Given the description of an element on the screen output the (x, y) to click on. 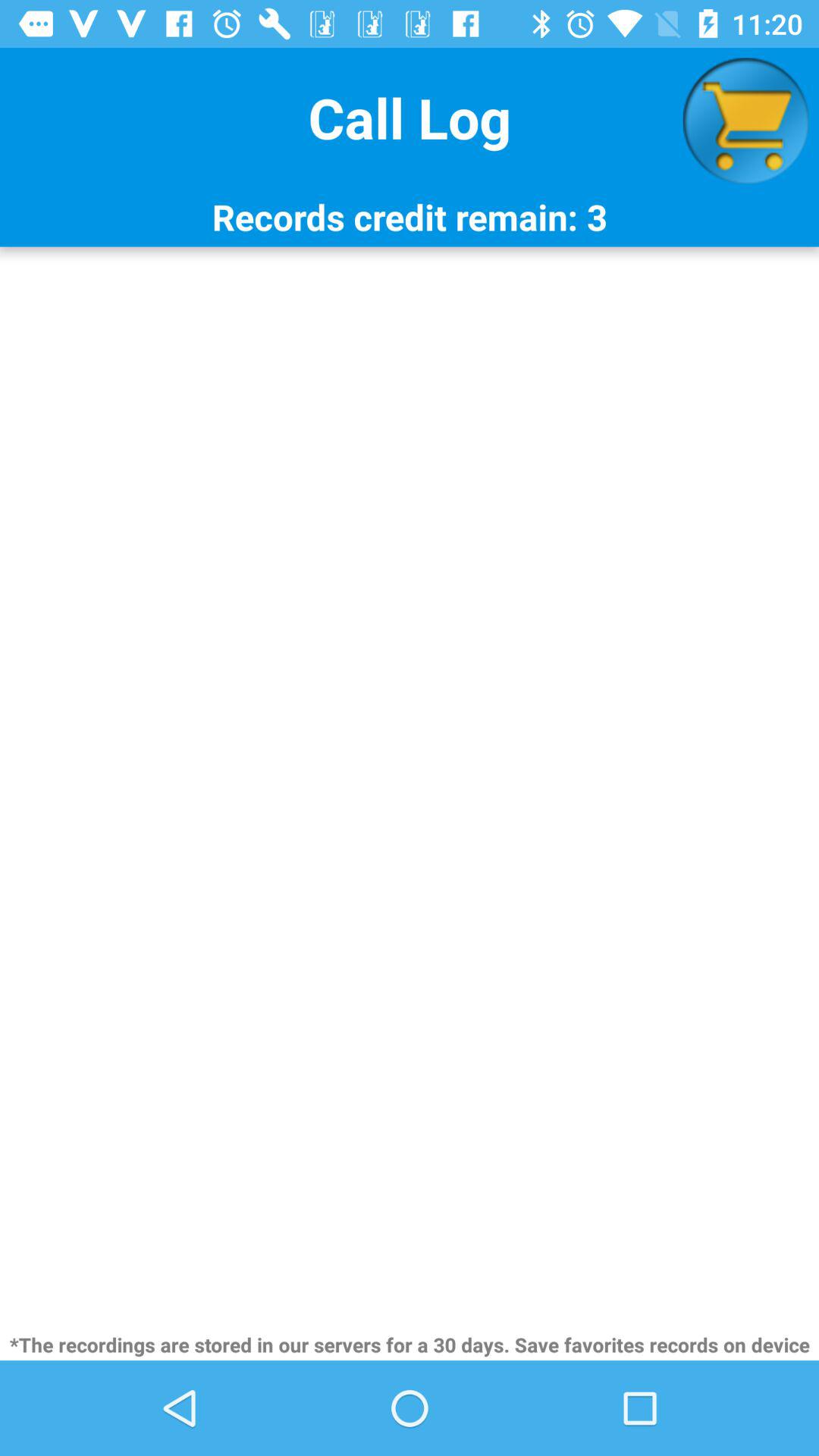
select app below the records credit remain app (409, 787)
